Given the description of an element on the screen output the (x, y) to click on. 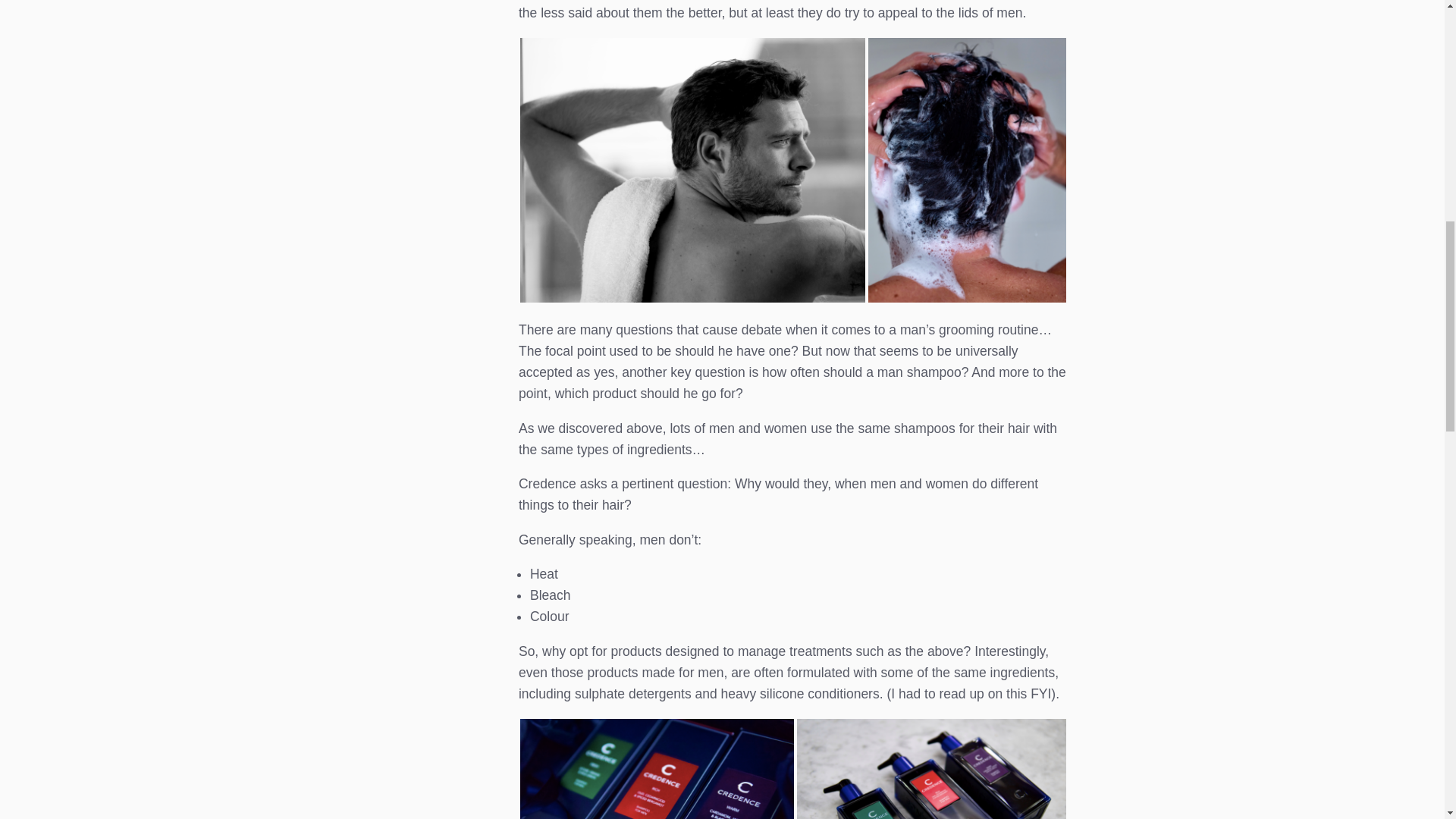
Screenshot 2022-09-20 at 09.19.14 (930, 769)
Screenshot 2022-09-20 at 09.18.56 (691, 169)
Screenshot 2022-09-20 at 09.19.05 (656, 769)
